Given the description of an element on the screen output the (x, y) to click on. 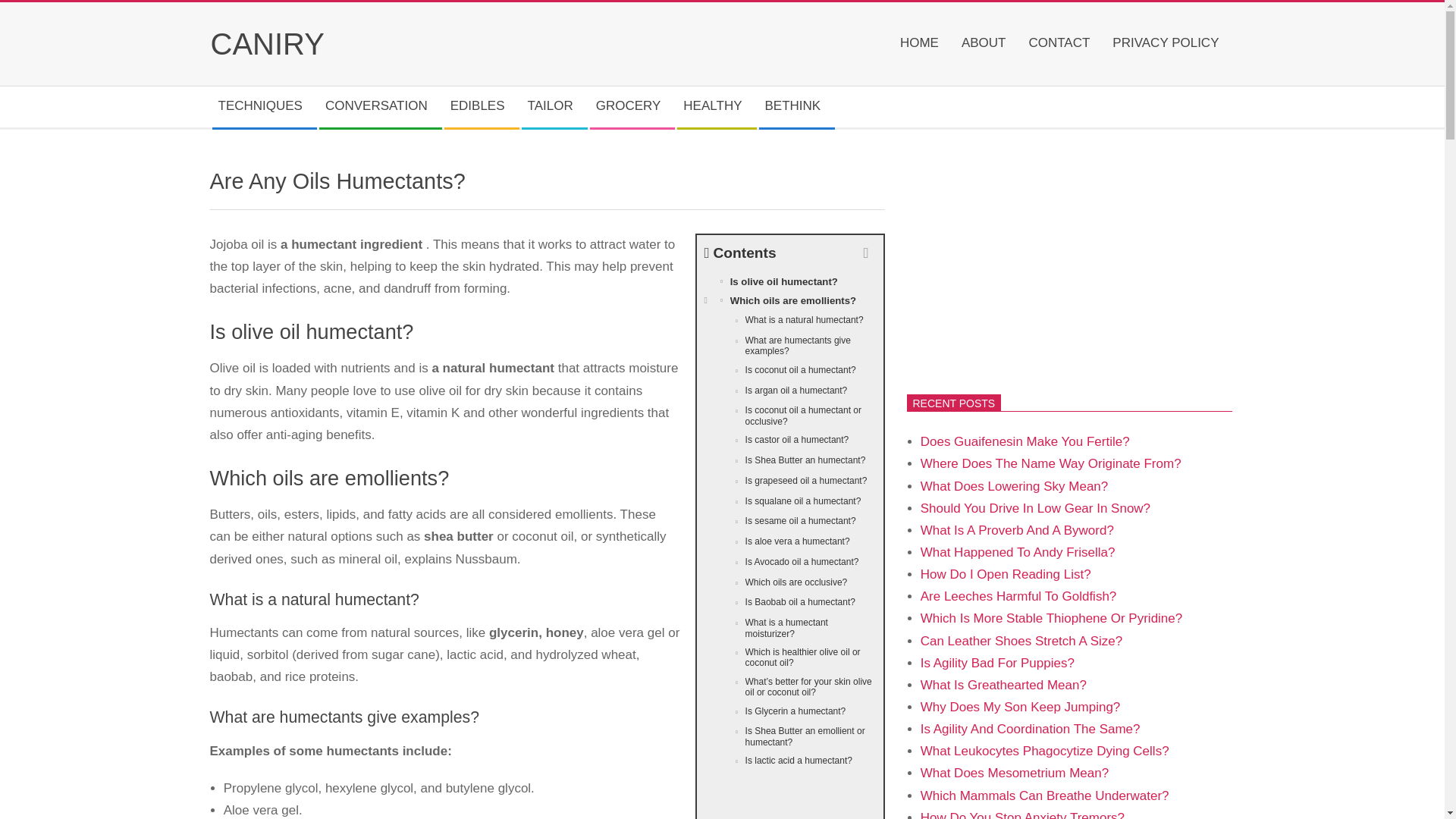
Which oils are occlusive? (788, 583)
Which oils are emollients? (788, 301)
Is olive oil humectant? (788, 281)
CONTACT (1062, 43)
Is Baobab oil a humectant? (788, 602)
ABOUT (987, 43)
TAILOR (553, 106)
What are humectants give examples? (788, 346)
Is Glycerin a humectant? (788, 711)
Is argan oil a humectant? (788, 391)
Is Avocado oil a humectant? (788, 562)
Is coconut oil a humectant? (788, 371)
Is coconut oil a humectant or occlusive? (788, 415)
Is squalane oil a humectant? (788, 502)
Is sesame oil a humectant? (788, 521)
